Given the description of an element on the screen output the (x, y) to click on. 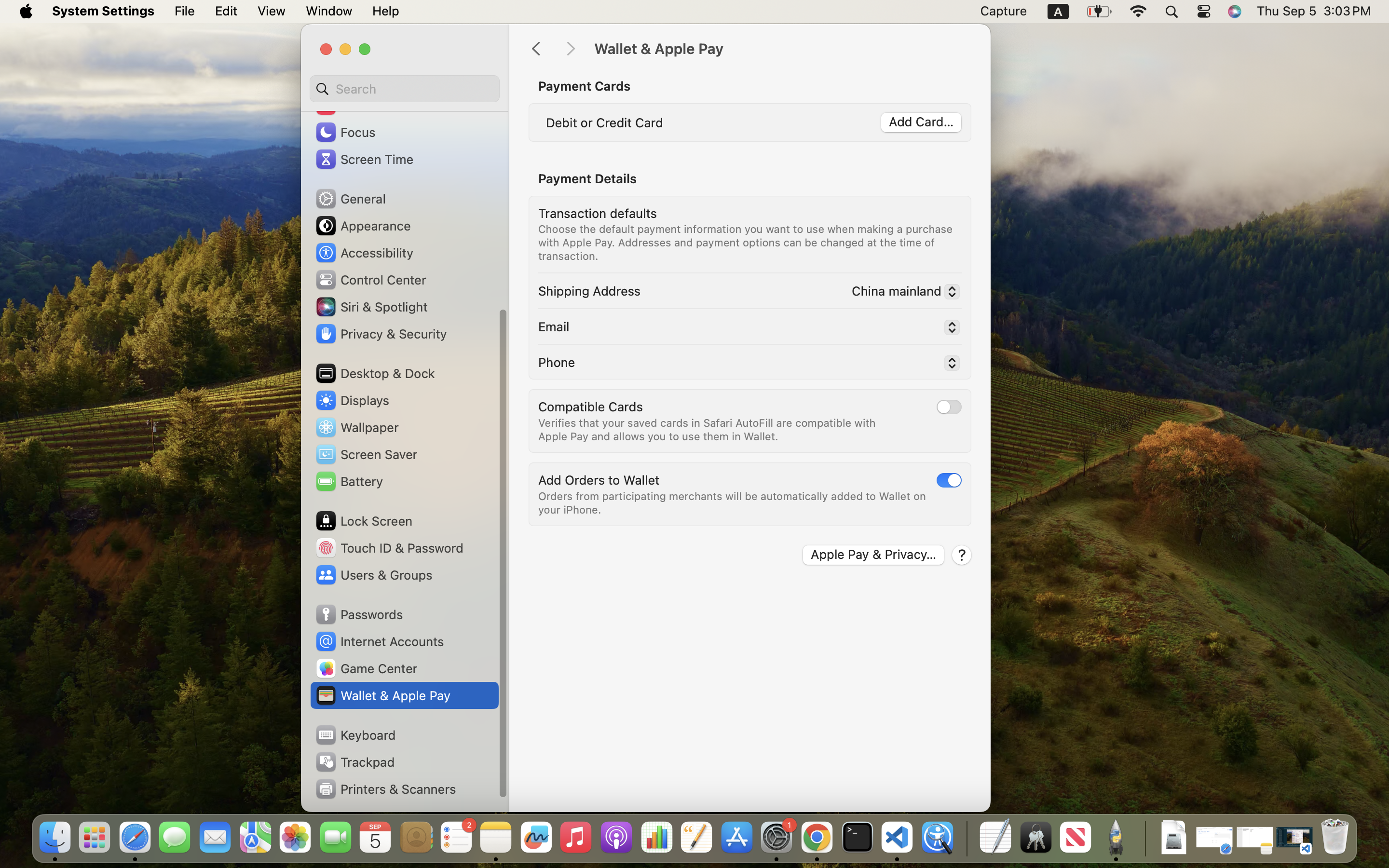
Users & Groups Element type: AXStaticText (373, 574)
Email Element type: AXStaticText (553, 325)
Printers & Scanners Element type: AXStaticText (385, 788)
Add Orders to Wallet Element type: AXStaticText (598, 479)
Debit or Credit Card Element type: AXStaticText (604, 122)
